Given the description of an element on the screen output the (x, y) to click on. 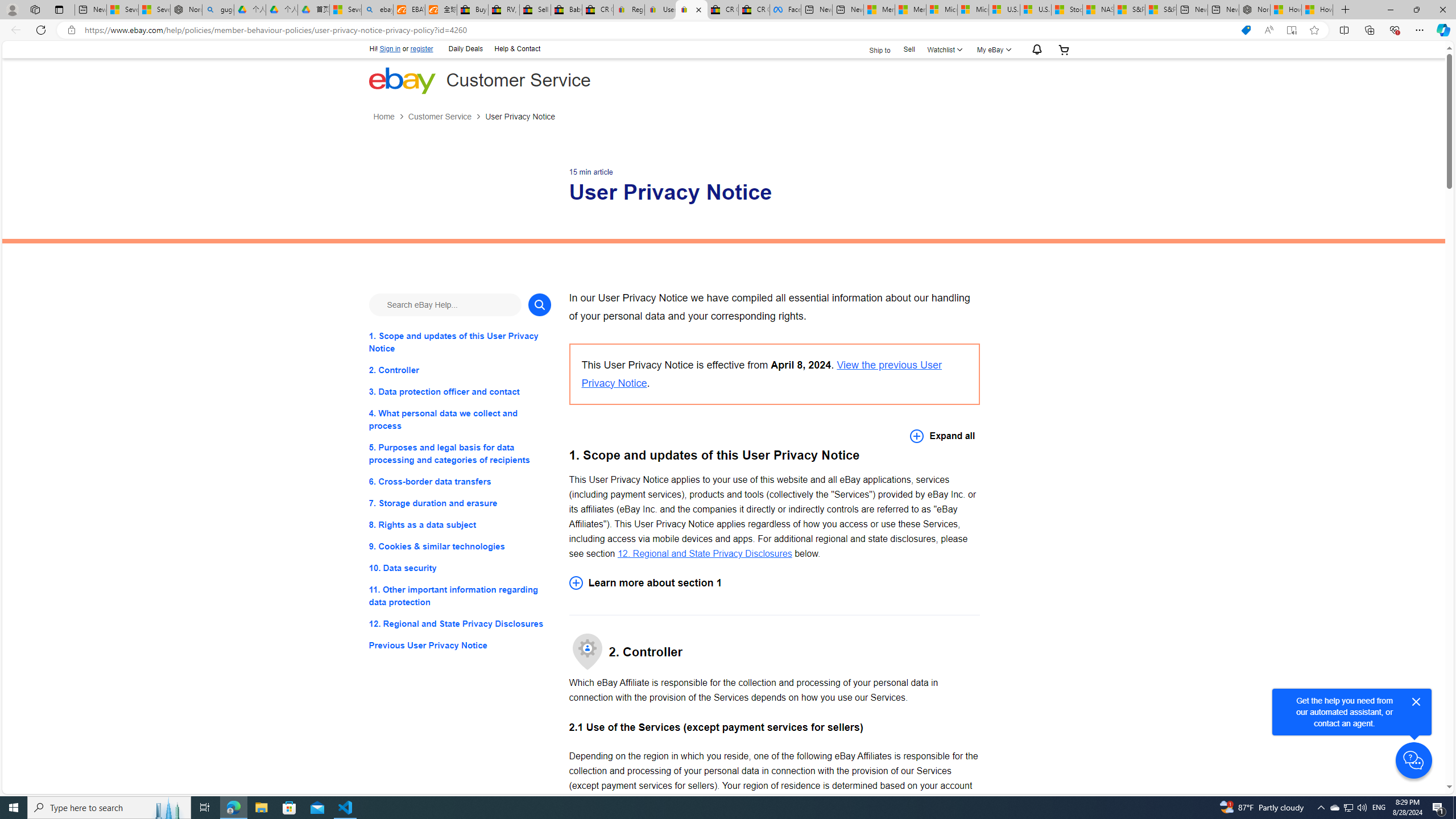
RV, Trailer & Camper Steps & Ladders for sale | eBay (503, 9)
Previous User Privacy Notice (459, 645)
2. Controller (459, 369)
AutomationID: gh-eb-Alerts (1035, 49)
